Given the description of an element on the screen output the (x, y) to click on. 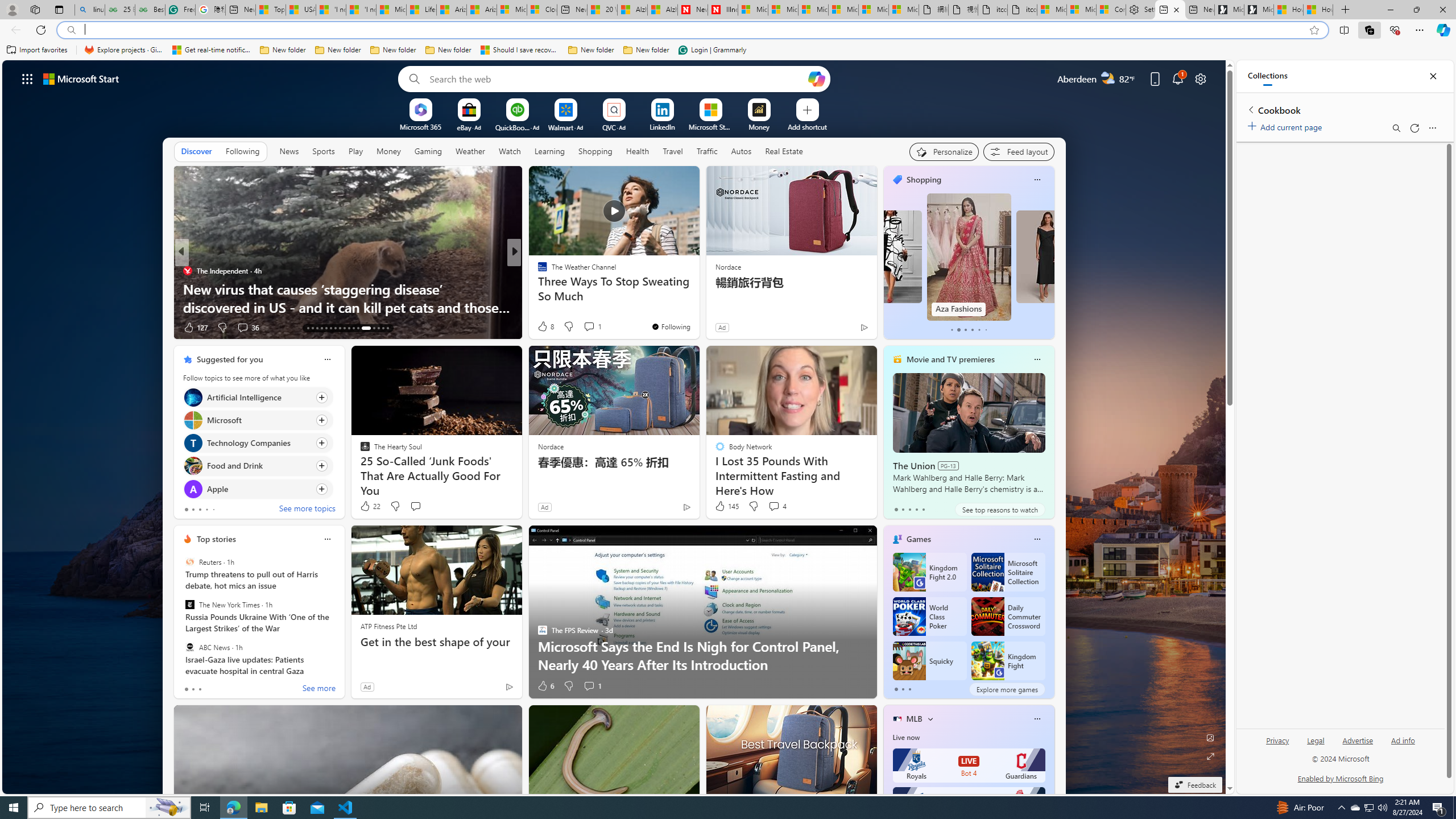
Games (917, 538)
tab-3 (916, 509)
AutomationID: tab-21 (344, 328)
Add a site (807, 126)
See more topics (306, 509)
View comments 10 Comment (597, 327)
The New York Times (189, 604)
